Given the description of an element on the screen output the (x, y) to click on. 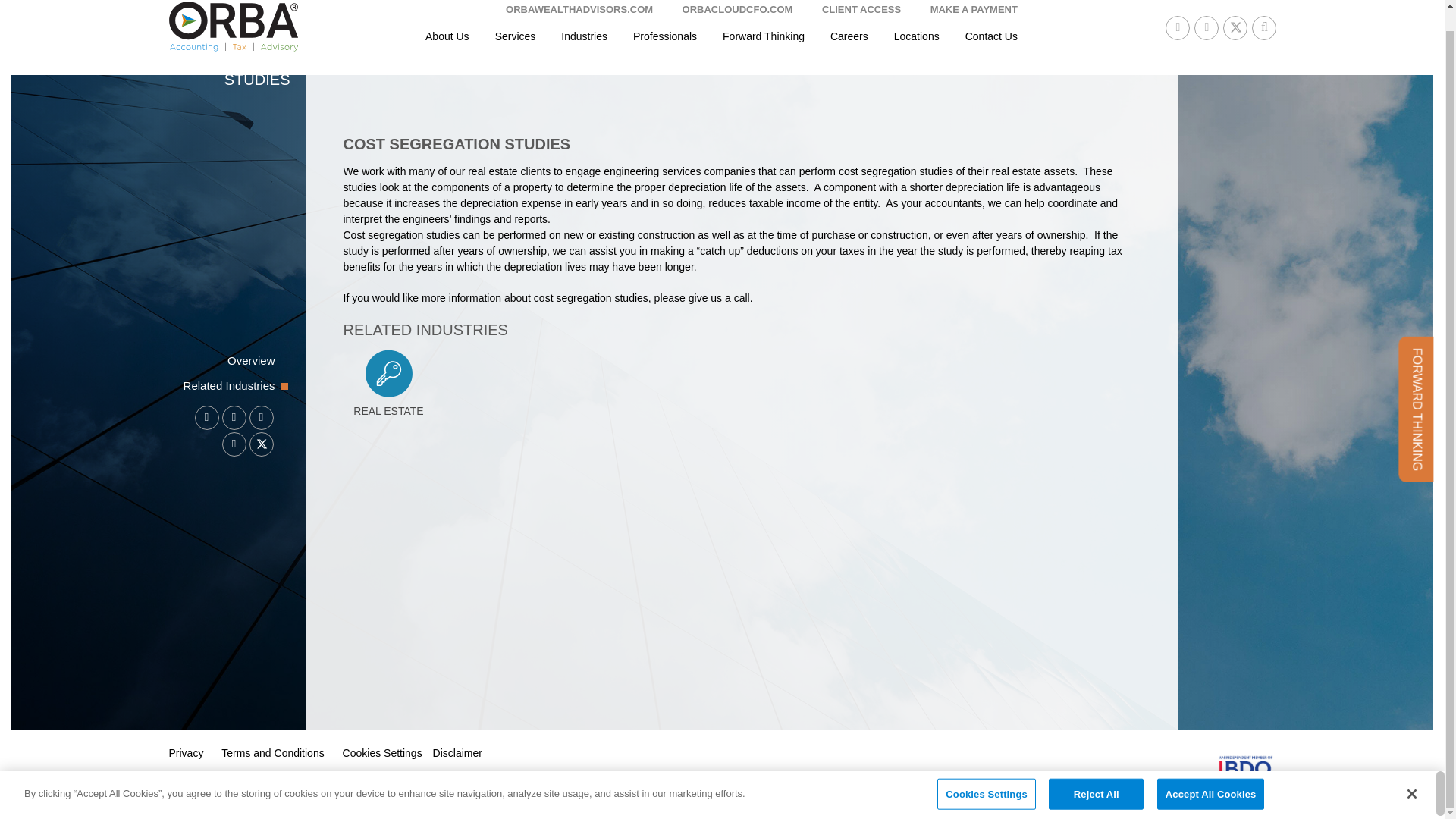
About Us (446, 35)
Locations (916, 35)
Forward Thinking (763, 35)
Professionals (665, 35)
CLIENT ACCESS (861, 9)
Industries (584, 35)
ORBACLOUDCFO.COM (740, 385)
Services (737, 9)
MAKE A PAYMENT (514, 35)
Careers (973, 9)
Contact Us (848, 35)
ORBAWEALTHADVISORS.COM (991, 35)
